Given the description of an element on the screen output the (x, y) to click on. 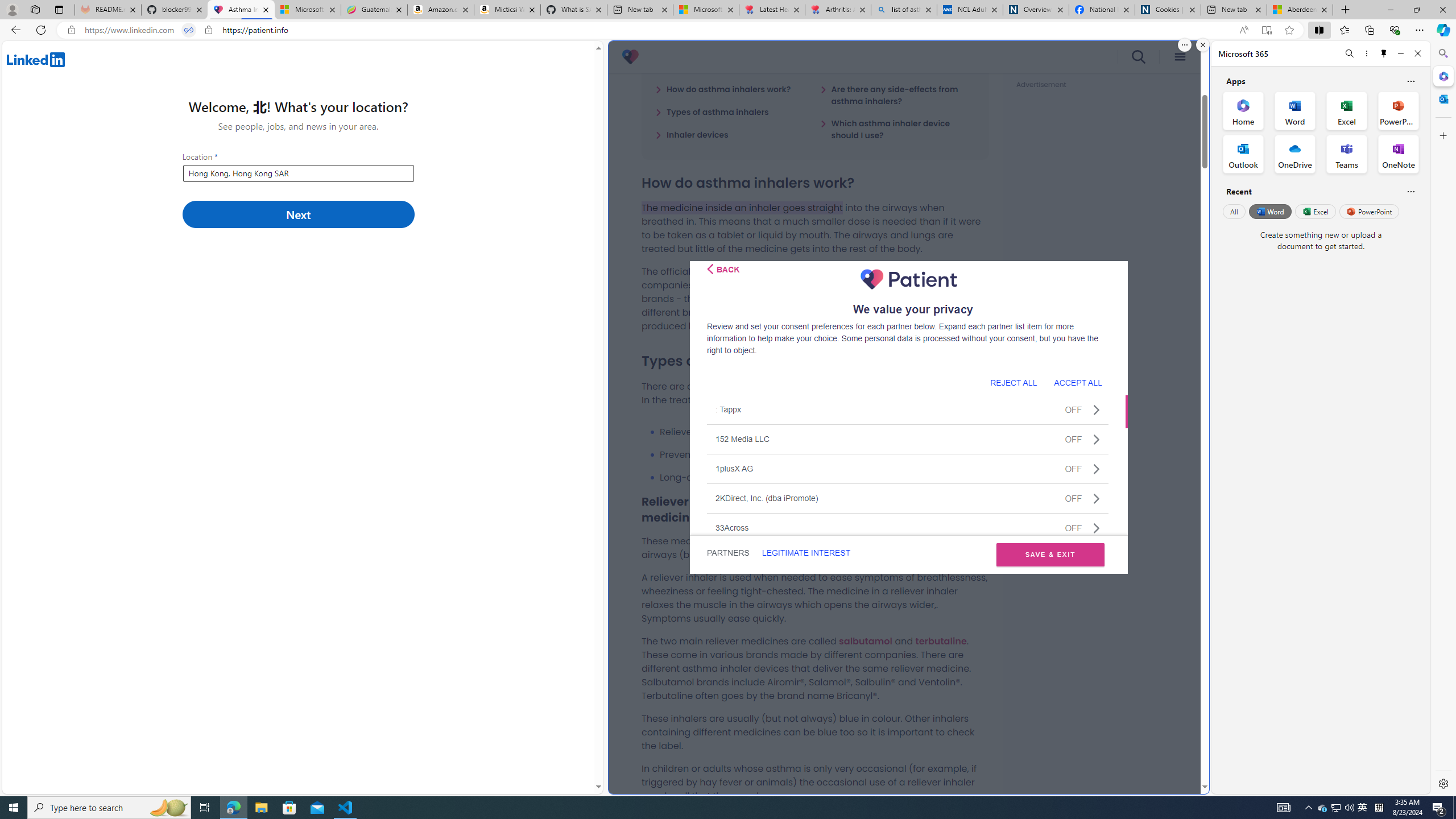
Inhaler devices (691, 134)
PARTNERS (728, 552)
Cookies | About | NICE (1167, 9)
ACCEPT ALL (1078, 382)
33AcrossOFF (907, 527)
Word Office App (1295, 110)
